Given the description of an element on the screen output the (x, y) to click on. 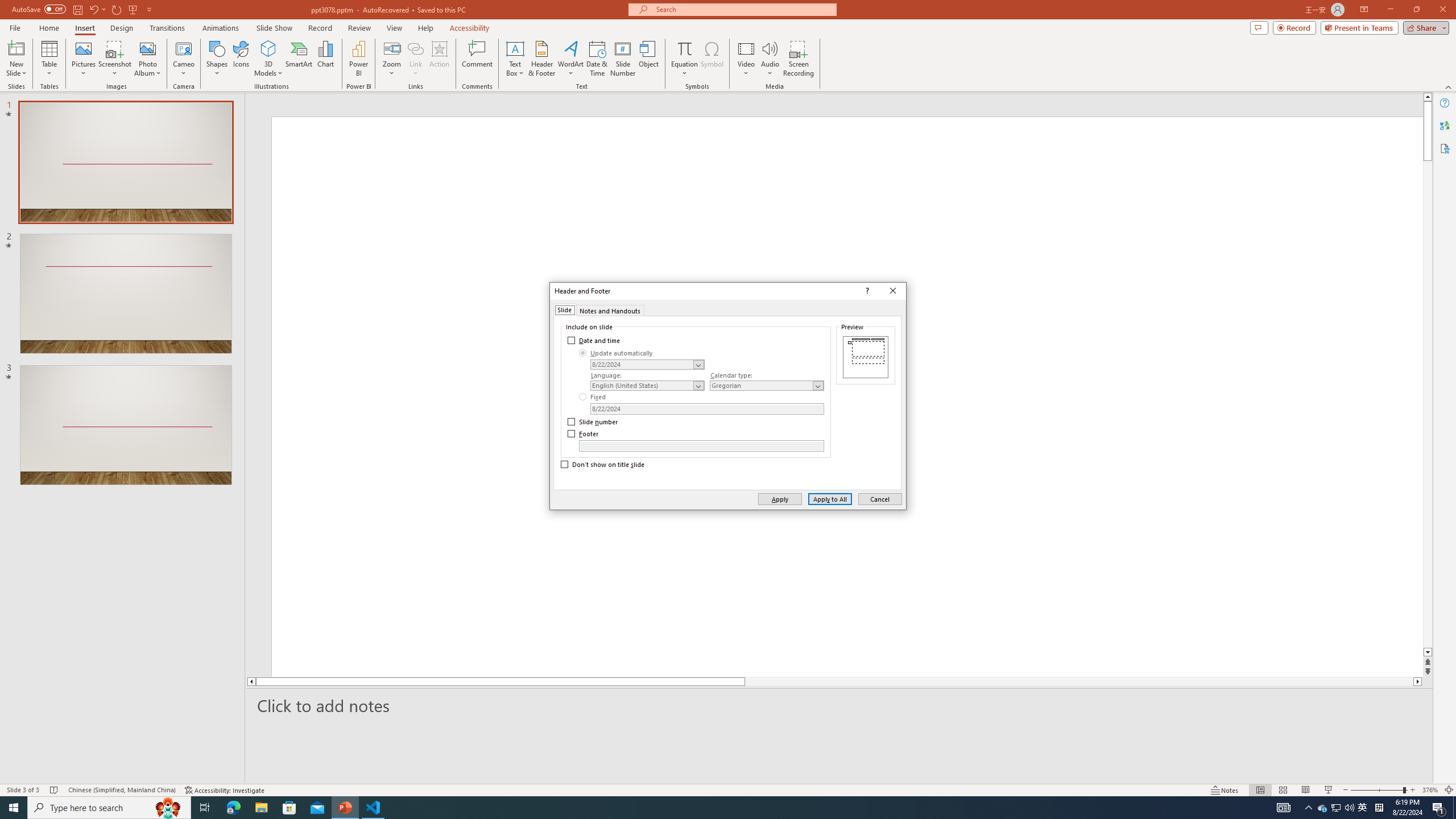
Header & Footer... (541, 58)
Date and time (594, 340)
Apply to All (830, 498)
